Given the description of an element on the screen output the (x, y) to click on. 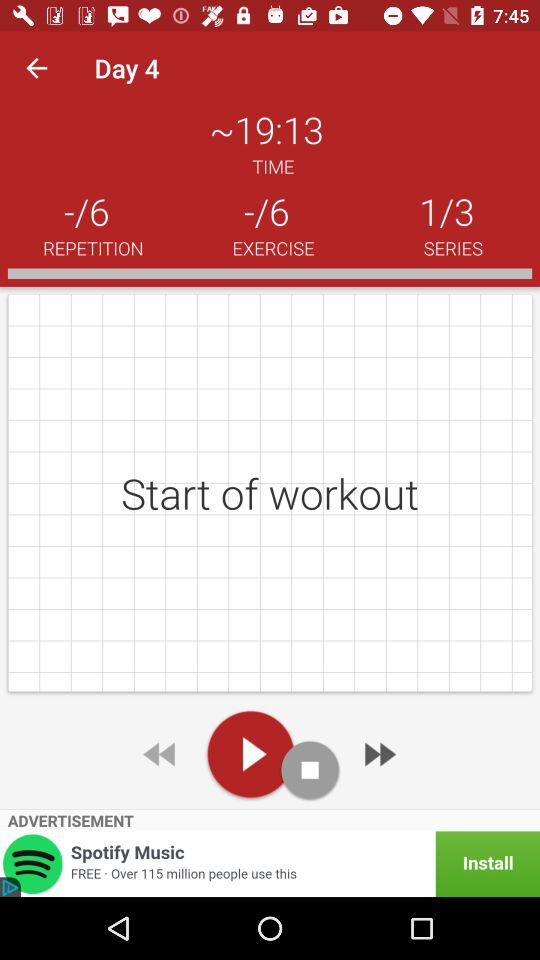
choose the icon next to day 4 item (36, 68)
